Given the description of an element on the screen output the (x, y) to click on. 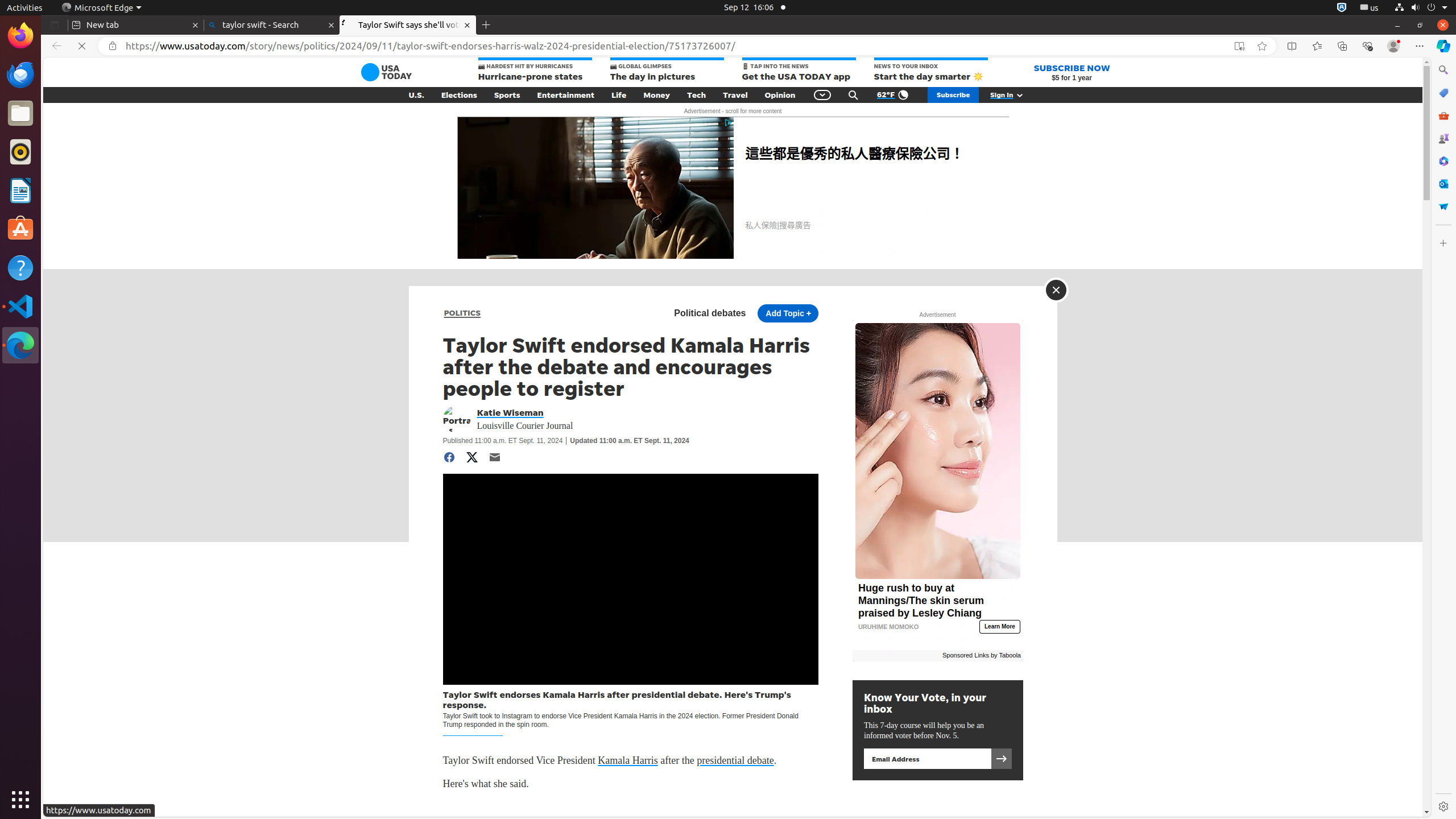
Microsoft Shopping Element type: push-button (1443, 92)
Close Element type: link (1055, 289)
Customize Element type: push-button (1443, 243)
Subscribe Element type: link (953, 94)
taylor swift - Search Element type: page-tab (271, 25)
